Given the description of an element on the screen output the (x, y) to click on. 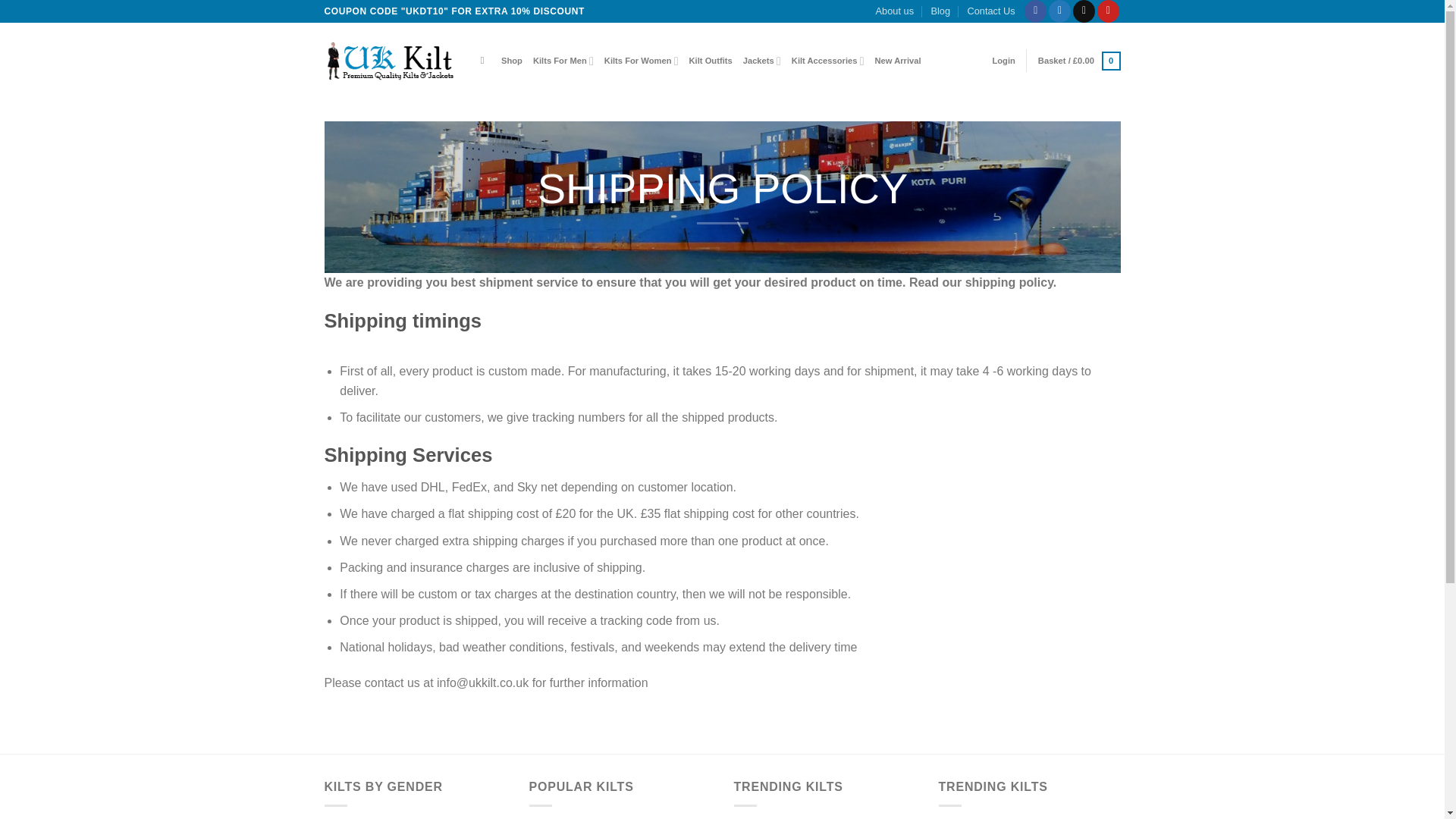
Send us an email (1083, 11)
Basket (1079, 60)
Contact Us (990, 11)
Kilts For Men (563, 60)
Jackets (761, 60)
About us (895, 11)
Follow on Facebook (1035, 11)
Kilt Outfits (710, 60)
Follow on Twitter (1059, 11)
Follow on Pinterest (1108, 11)
Kilts For Women (641, 60)
